Given the description of an element on the screen output the (x, y) to click on. 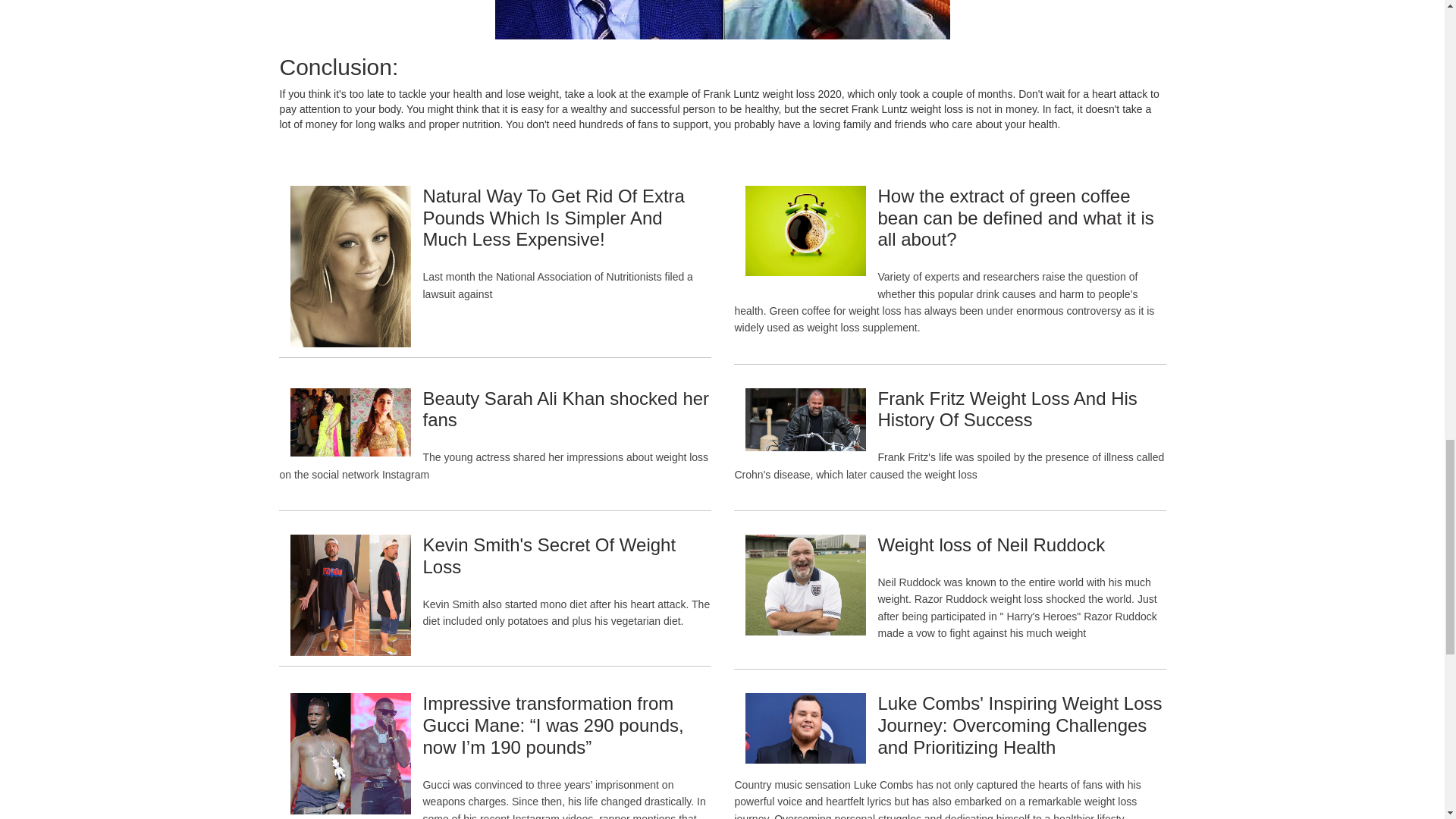
Weight loss of Neil Ruddock (991, 544)
Beauty Sarah Ali Khan shocked her fans (565, 409)
Kevin Smith's Secret Of Weight Loss (548, 555)
Frank Fritz Weight Loss And His History Of Success (1007, 409)
